Given the description of an element on the screen output the (x, y) to click on. 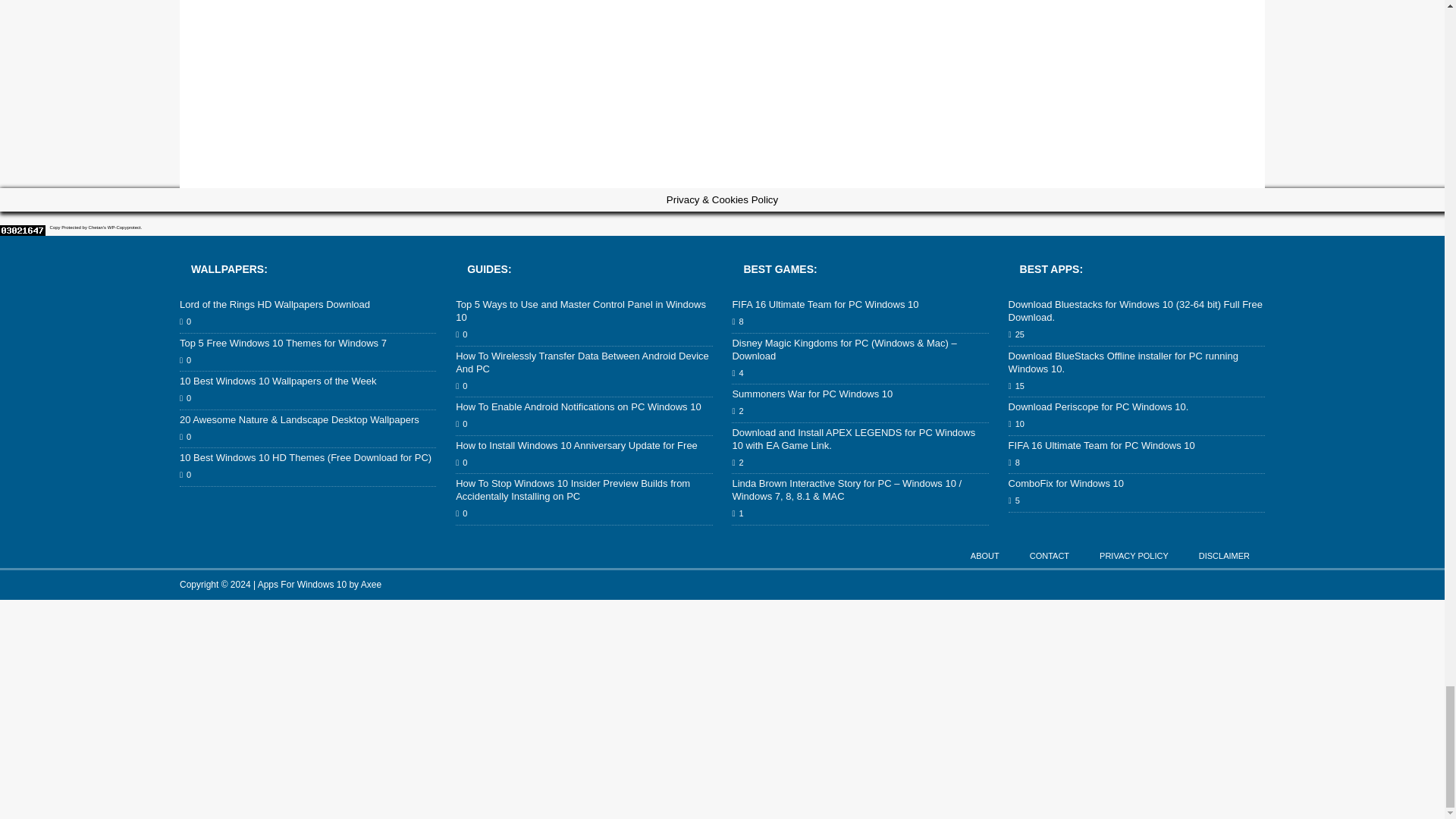
Lord of the Rings HD Wallpapers Download (274, 304)
10 Best Windows 10 Wallpapers of the Week (277, 380)
Top 5 Free Windows 10 Themes for Windows 7 (283, 342)
Top 5 Ways to Use and Master Control Panel in Windows 10 (580, 310)
